Given the description of an element on the screen output the (x, y) to click on. 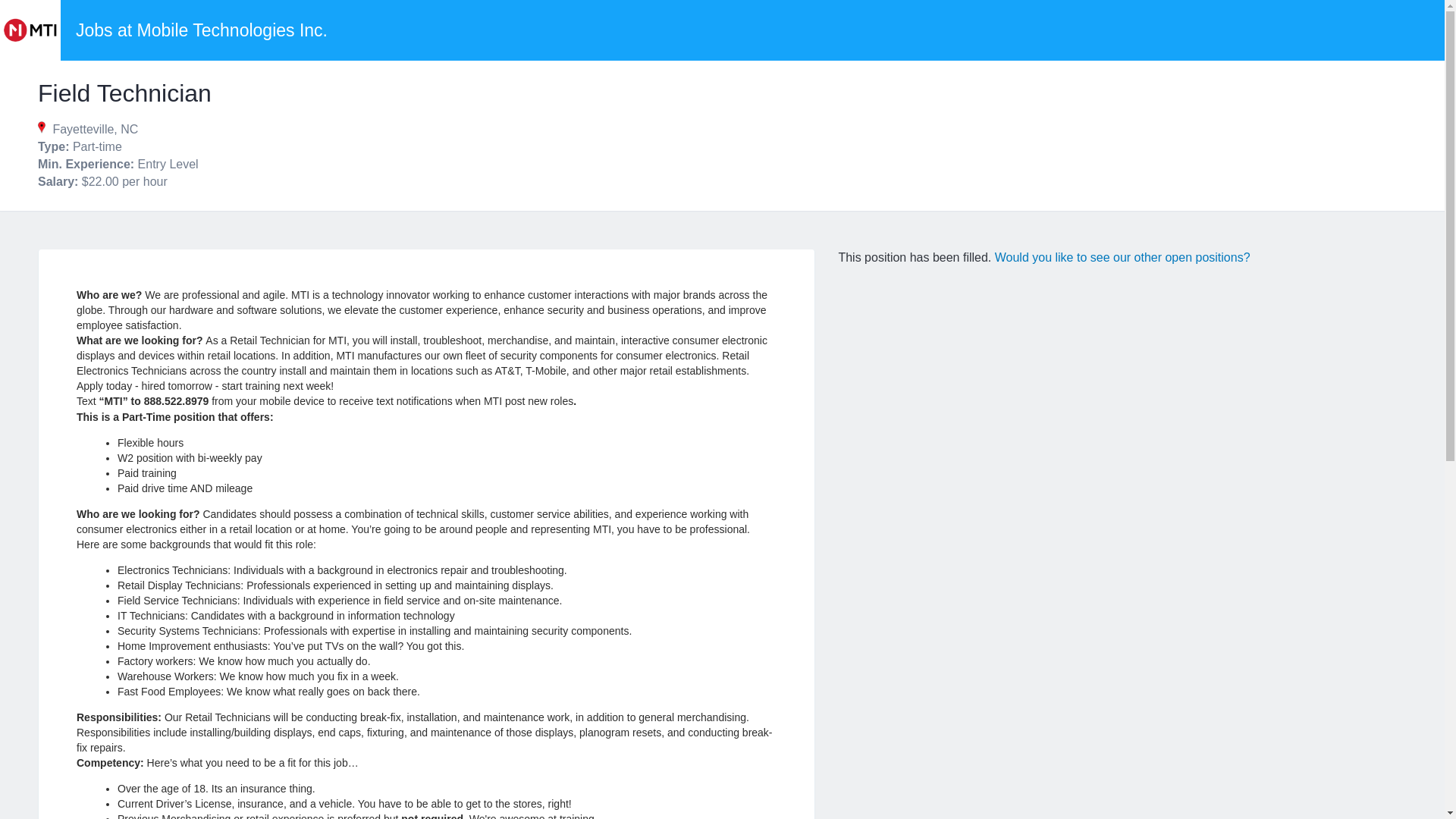
Would you like to see our other open positions? (1122, 256)
Jobs at Mobile Technologies Inc. (201, 30)
